Given the description of an element on the screen output the (x, y) to click on. 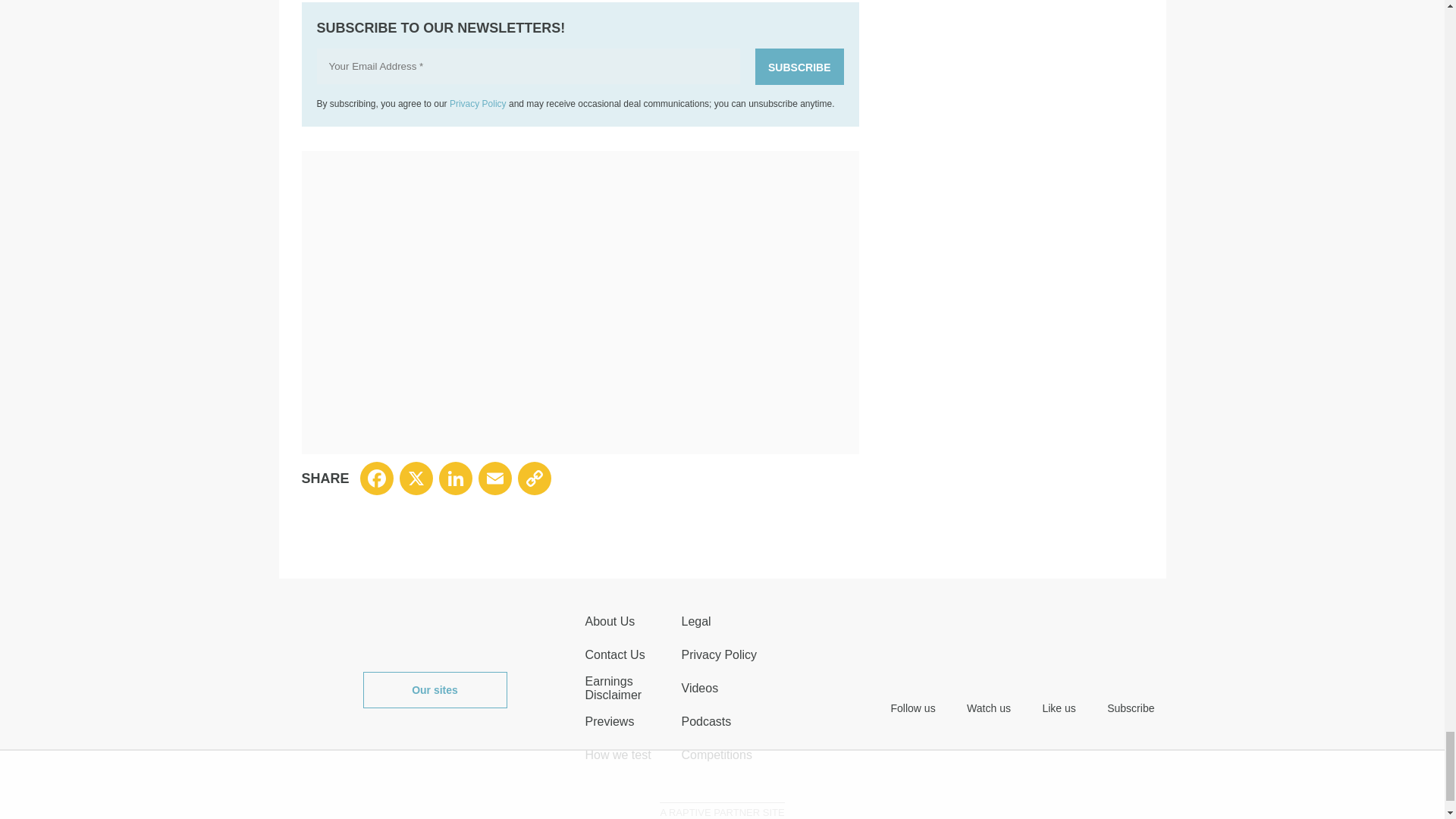
Email (495, 478)
Facebook (376, 478)
X (415, 478)
Copy Link (534, 478)
LinkedIn (455, 478)
Subscribe (799, 66)
